Given the description of an element on the screen output the (x, y) to click on. 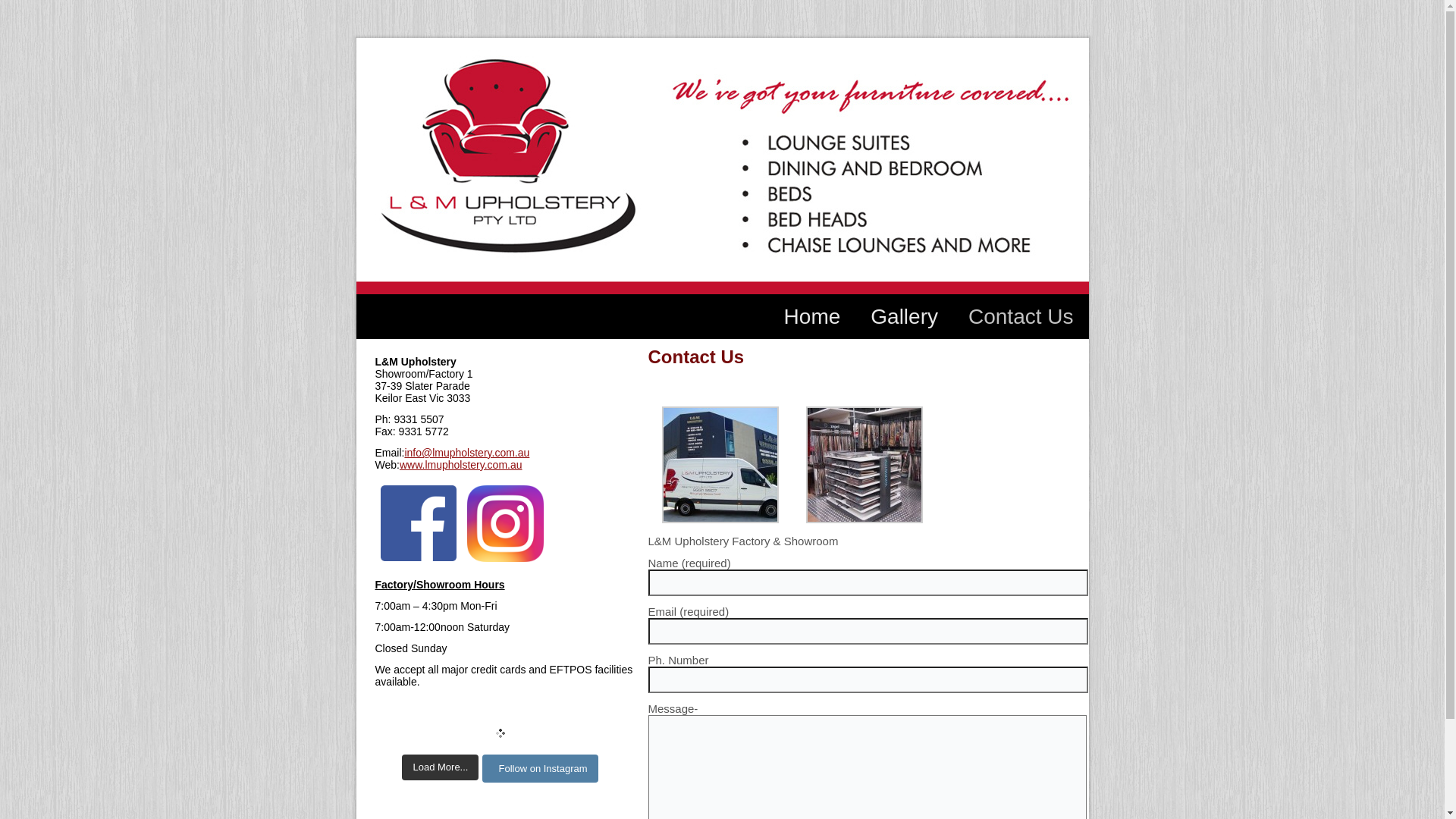
info@lmupholstery.com.au Element type: text (466, 452)
Contact Us Element type: text (1020, 316)
Load More... Element type: text (439, 767)
www.lmupholstery.com.au Element type: text (460, 464)
Gallery Element type: text (904, 316)
Home Element type: text (812, 316)
Follow on Instagram Element type: text (539, 768)
